Given the description of an element on the screen output the (x, y) to click on. 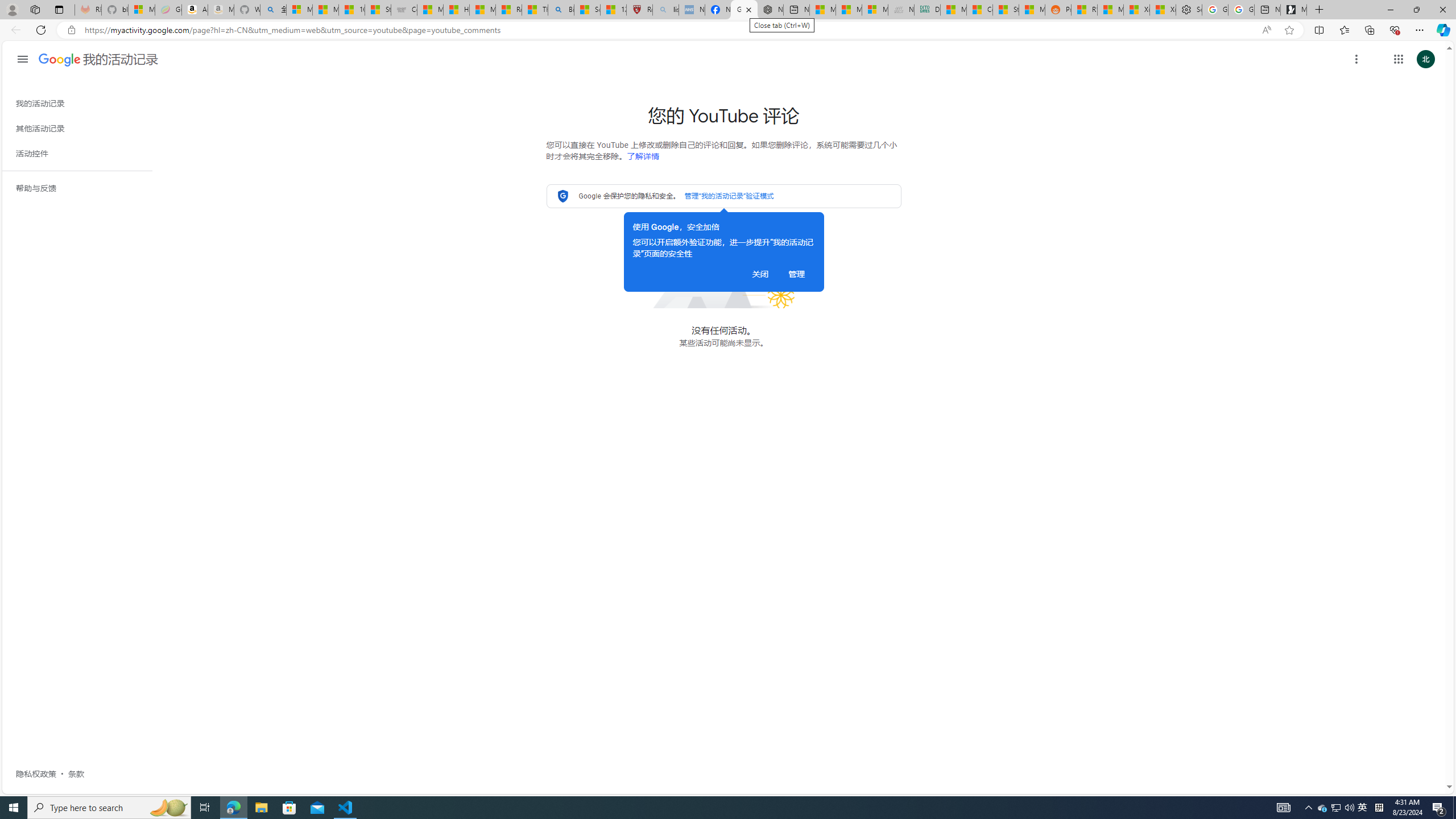
Nordace - Nordace Siena Is Not An Ordinary Backpack (769, 9)
Class: gb_E (1398, 59)
12 Popular Science Lies that Must be Corrected (613, 9)
R******* | Trusted Community Engagement and Contributions (1083, 9)
Bing (561, 9)
